Given the description of an element on the screen output the (x, y) to click on. 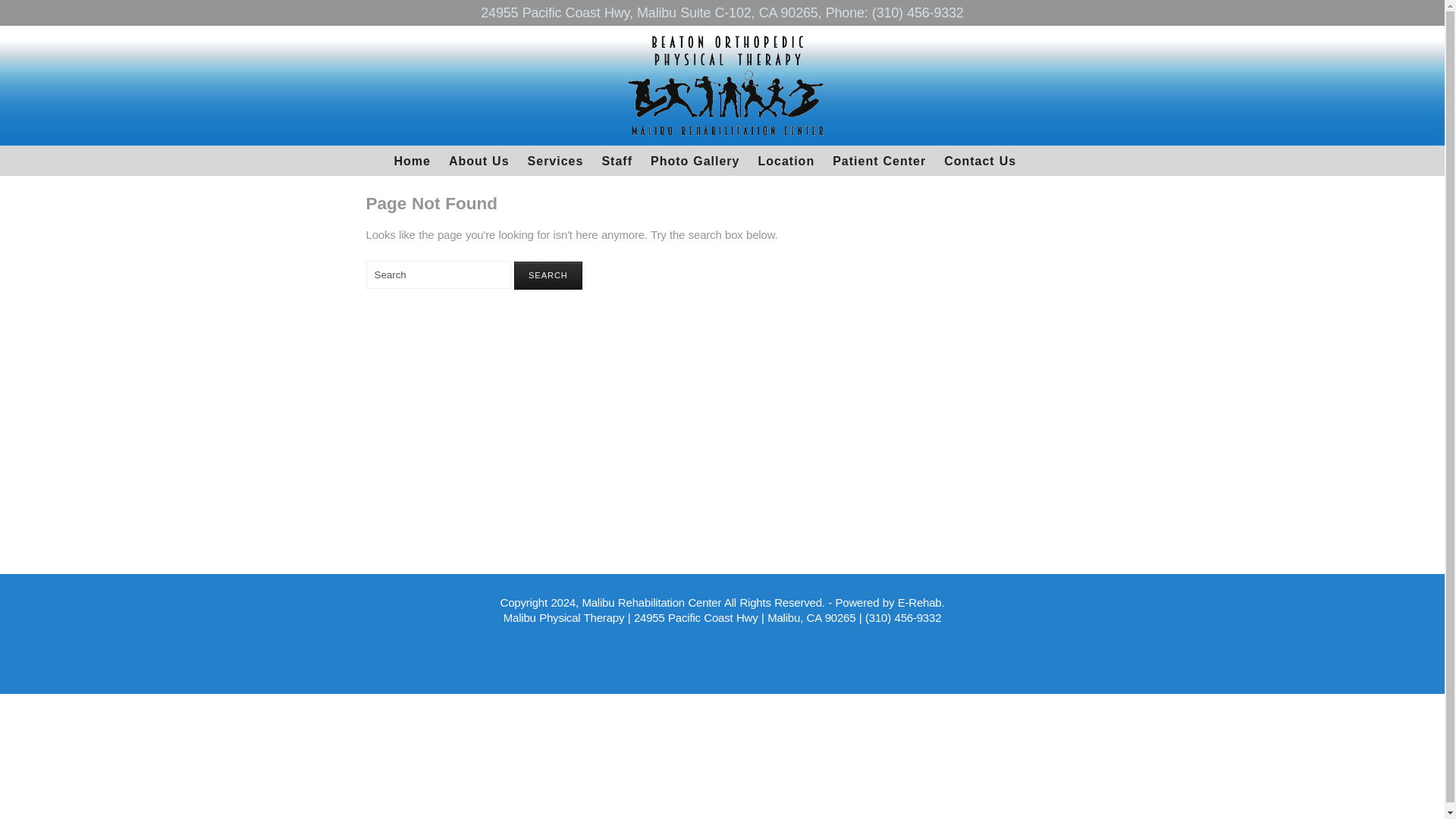
Staff (617, 161)
Search (438, 275)
Photo Gallery (695, 161)
Search (547, 275)
Patient Center (879, 161)
Home (412, 161)
Contact Us (979, 161)
Search (547, 275)
Services (555, 161)
Powered by E-Rehab. (889, 602)
About Us (478, 161)
Location (786, 161)
